Given the description of an element on the screen output the (x, y) to click on. 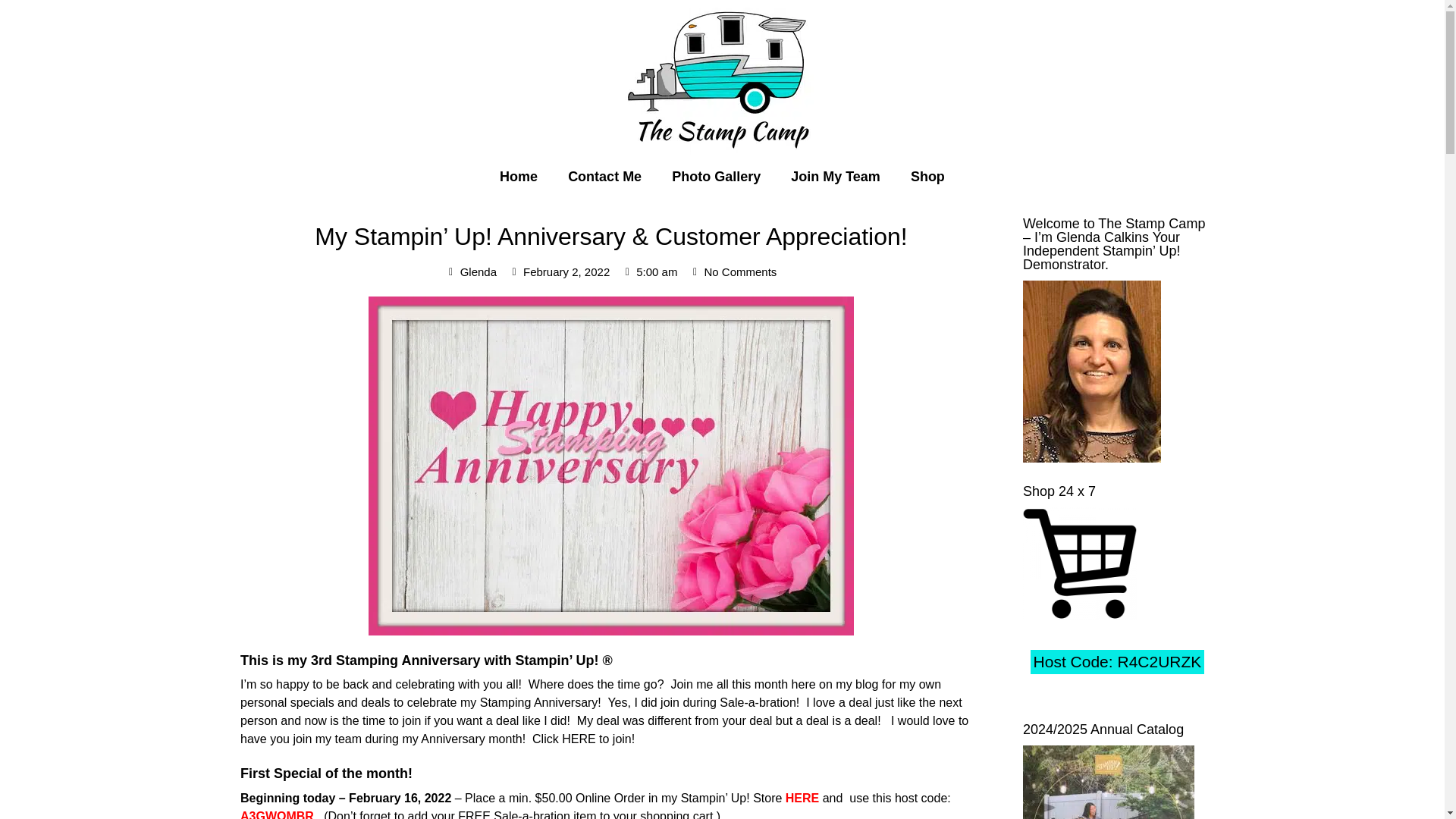
Glenda (470, 272)
Photo Gallery (716, 176)
Contact Me (604, 176)
HERE (802, 797)
Click HERE to join! (583, 738)
Join My Team (835, 176)
Shop 24 x 7 (1080, 562)
Home (518, 176)
No Comments (732, 272)
Shop (927, 176)
February 2, 2022 (559, 272)
